Given the description of an element on the screen output the (x, y) to click on. 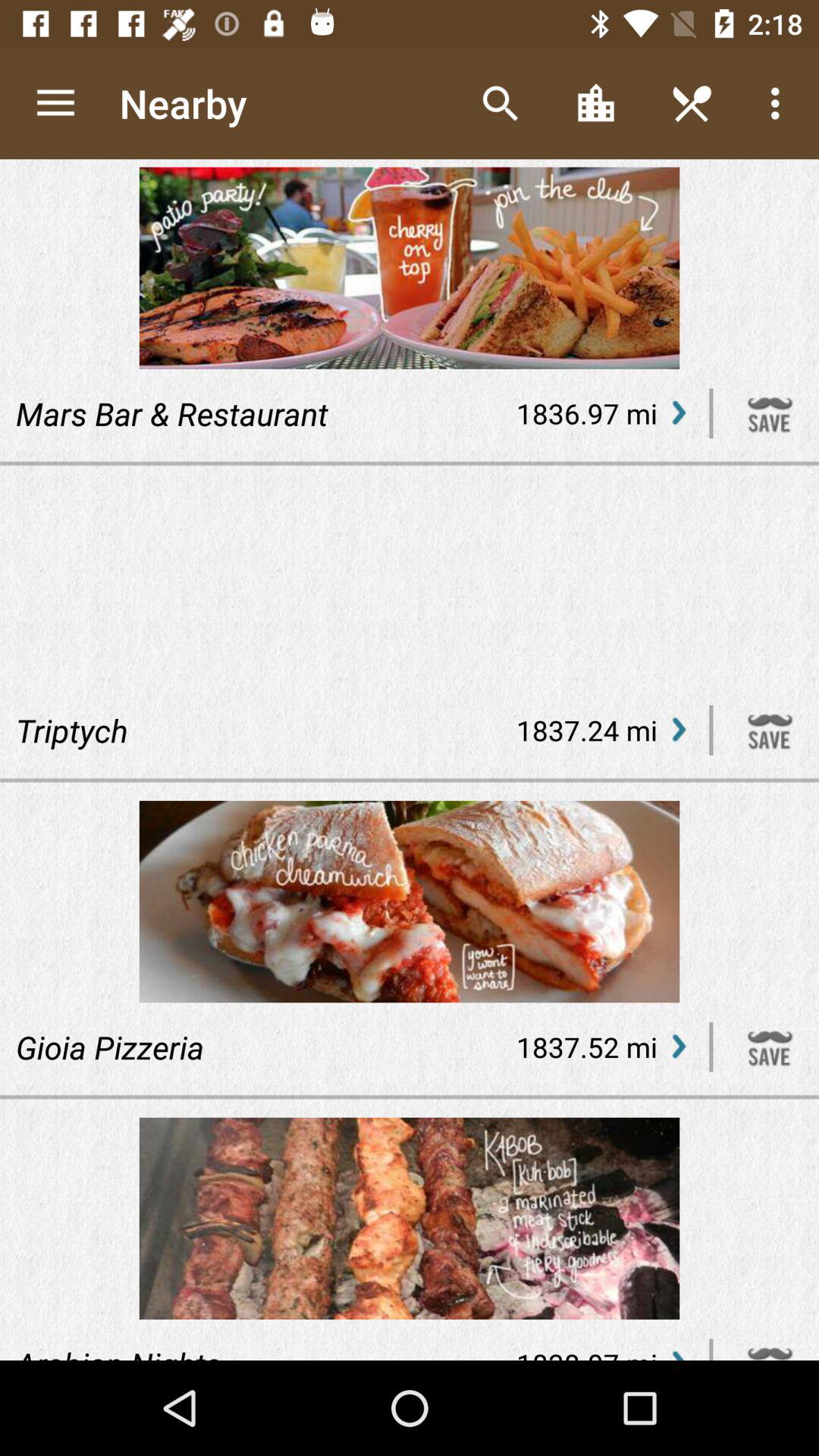
open the icon next to the nearby (500, 103)
